Given the description of an element on the screen output the (x, y) to click on. 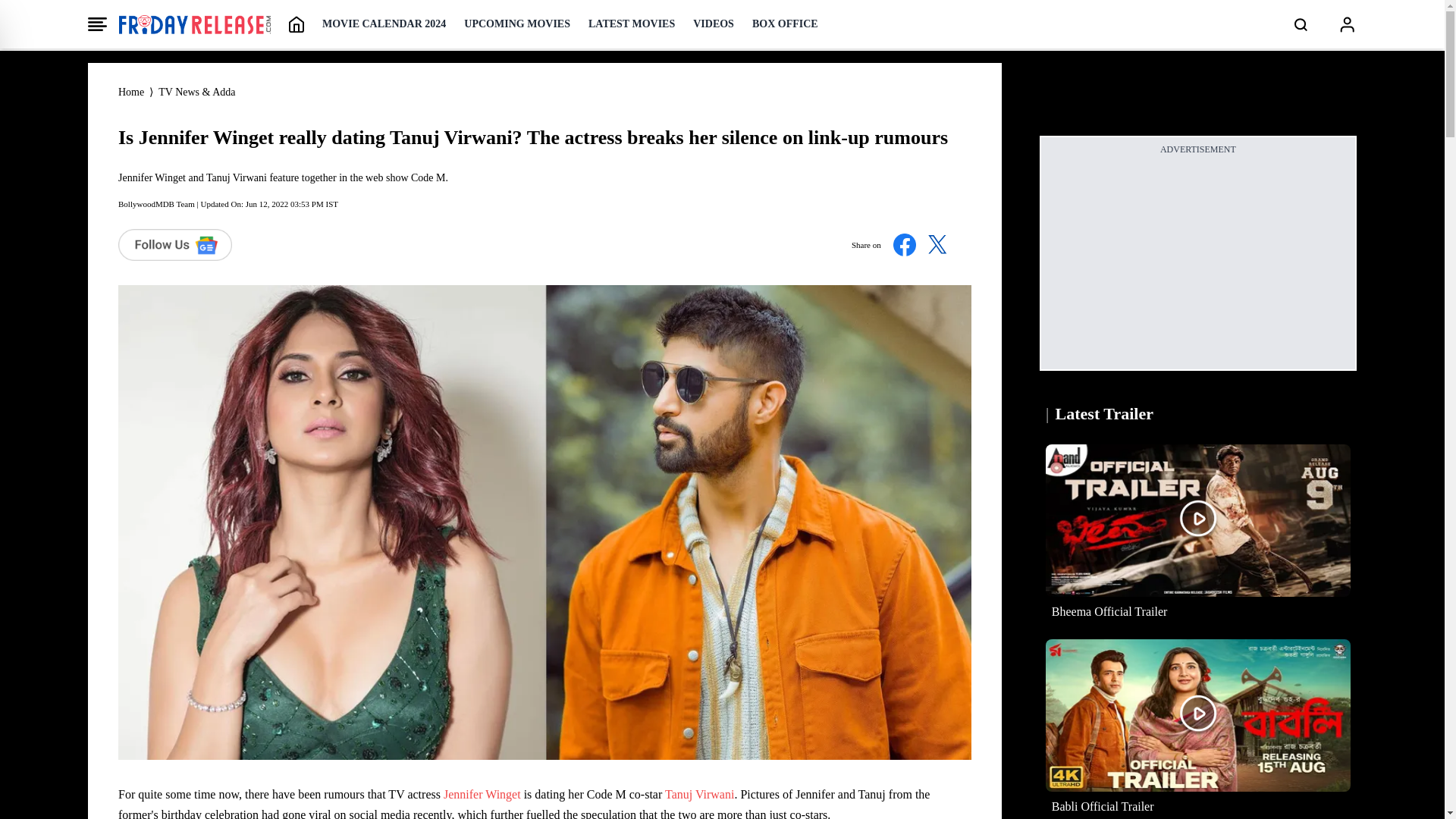
MOVIE CALENDAR 2024 (383, 23)
UPCOMING MOVIES (517, 23)
BOX OFFICE (785, 23)
LATEST MOVIES (631, 23)
VIDEOS (713, 23)
Share on (905, 244)
